Given the description of an element on the screen output the (x, y) to click on. 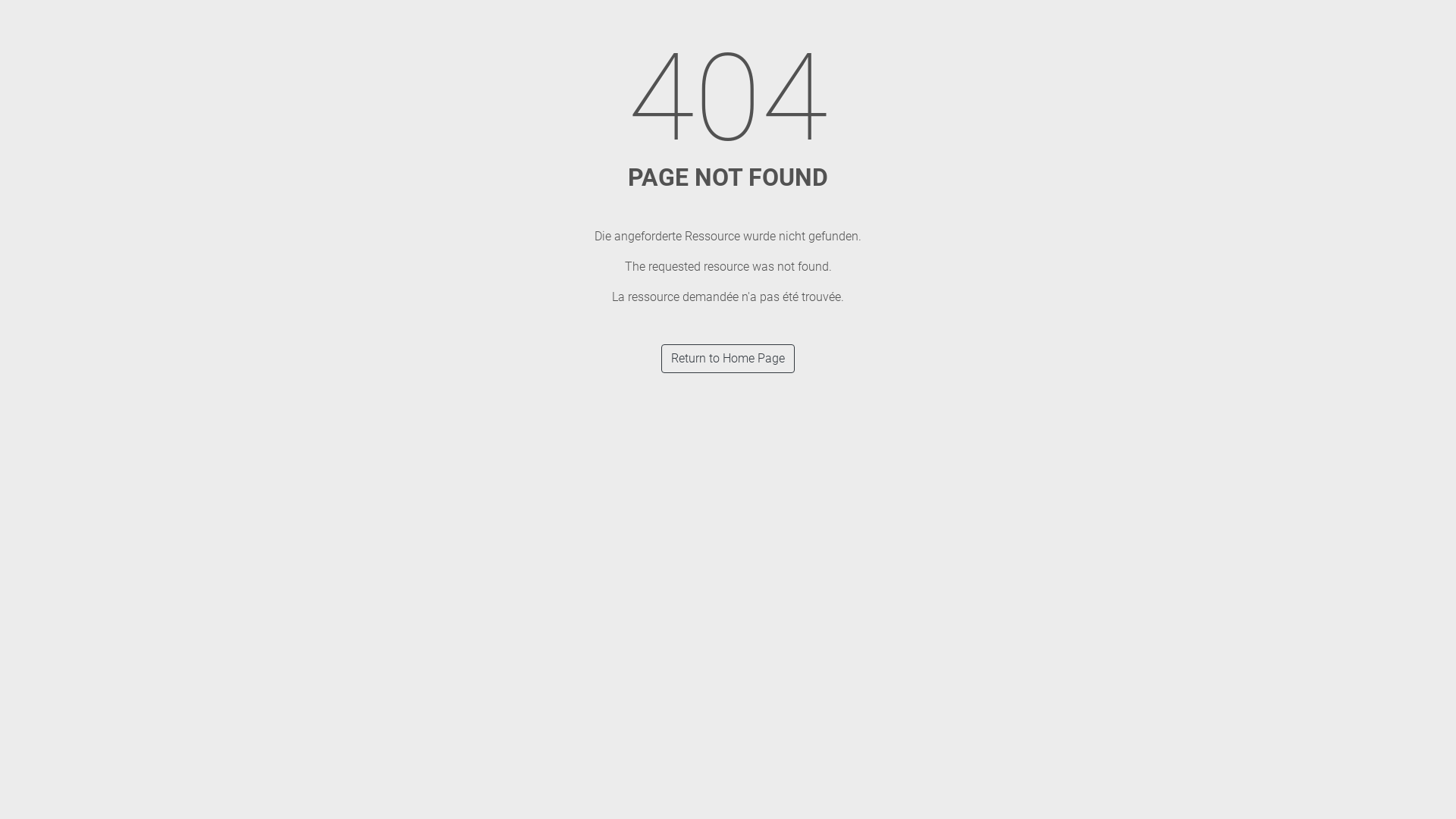
Return to Home Page Element type: text (727, 358)
